Given the description of an element on the screen output the (x, y) to click on. 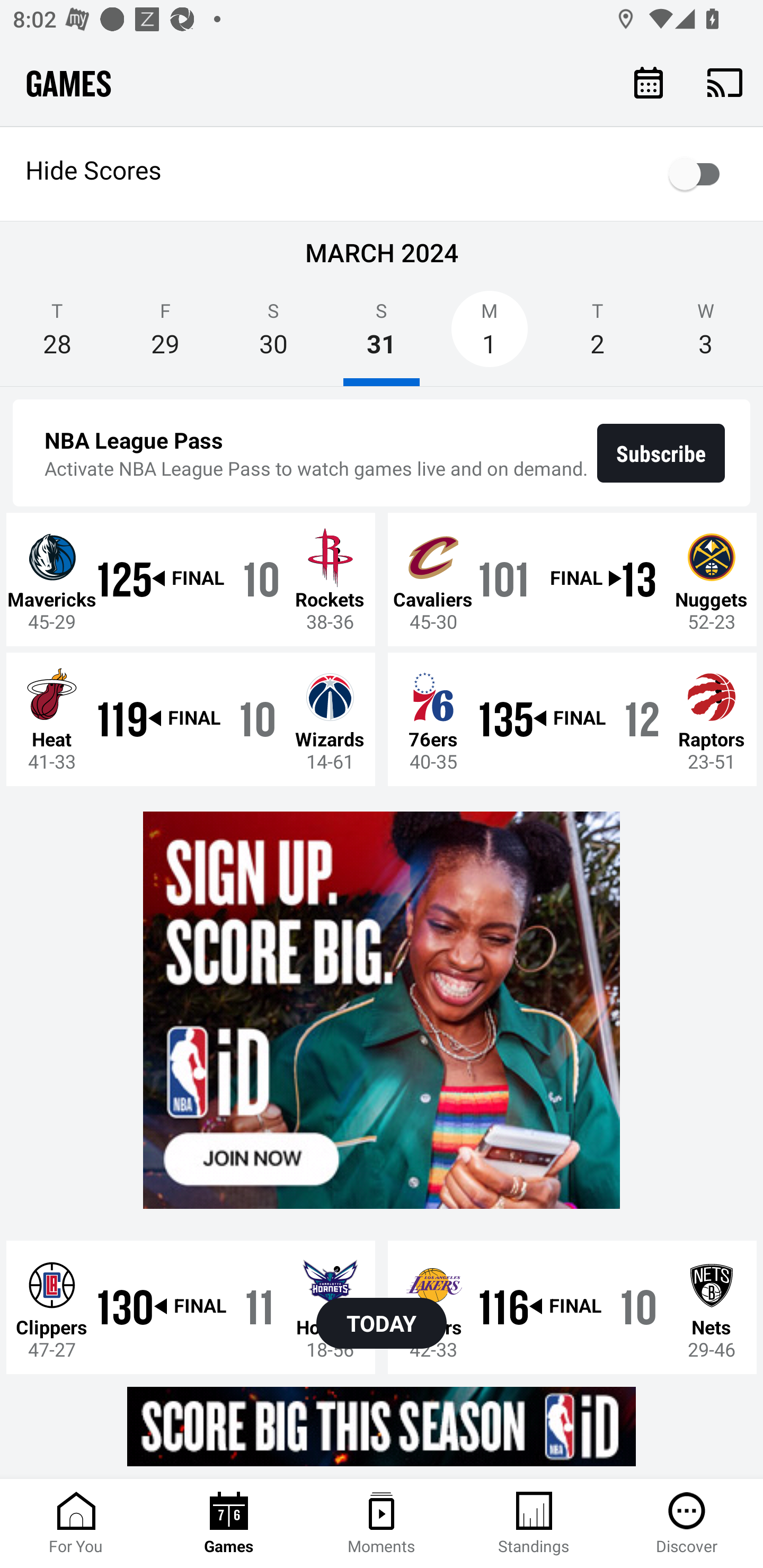
Cast. Disconnected (724, 82)
Calendar (648, 81)
Hide Scores (381, 174)
T 28 (57, 334)
F 29 (165, 334)
S 30 (273, 334)
S 31 (381, 334)
M 1 (489, 334)
T 2 (597, 334)
W 3 (705, 334)
Subscribe (660, 452)
Mavericks 45-29 125 FINAL 107 Rockets 38-36 (190, 579)
Cavaliers 45-30 101 FINAL 130 Nuggets 52-23 (571, 579)
Heat 41-33 119 FINAL 107 Wizards 14-61 (190, 718)
76ers 40-35 135 FINAL 120 Raptors 23-51 (571, 718)
g5nqqygr7owph (381, 1010)
Clippers 47-27 130 FINAL 118 Hornets 18-56 (190, 1306)
Lakers 42-33 116 FINAL 104 Nets 29-46 (571, 1306)
TODAY (381, 1323)
g5nqqygr7owph (381, 1426)
For You (76, 1523)
Moments (381, 1523)
Standings (533, 1523)
Discover (686, 1523)
